Given the description of an element on the screen output the (x, y) to click on. 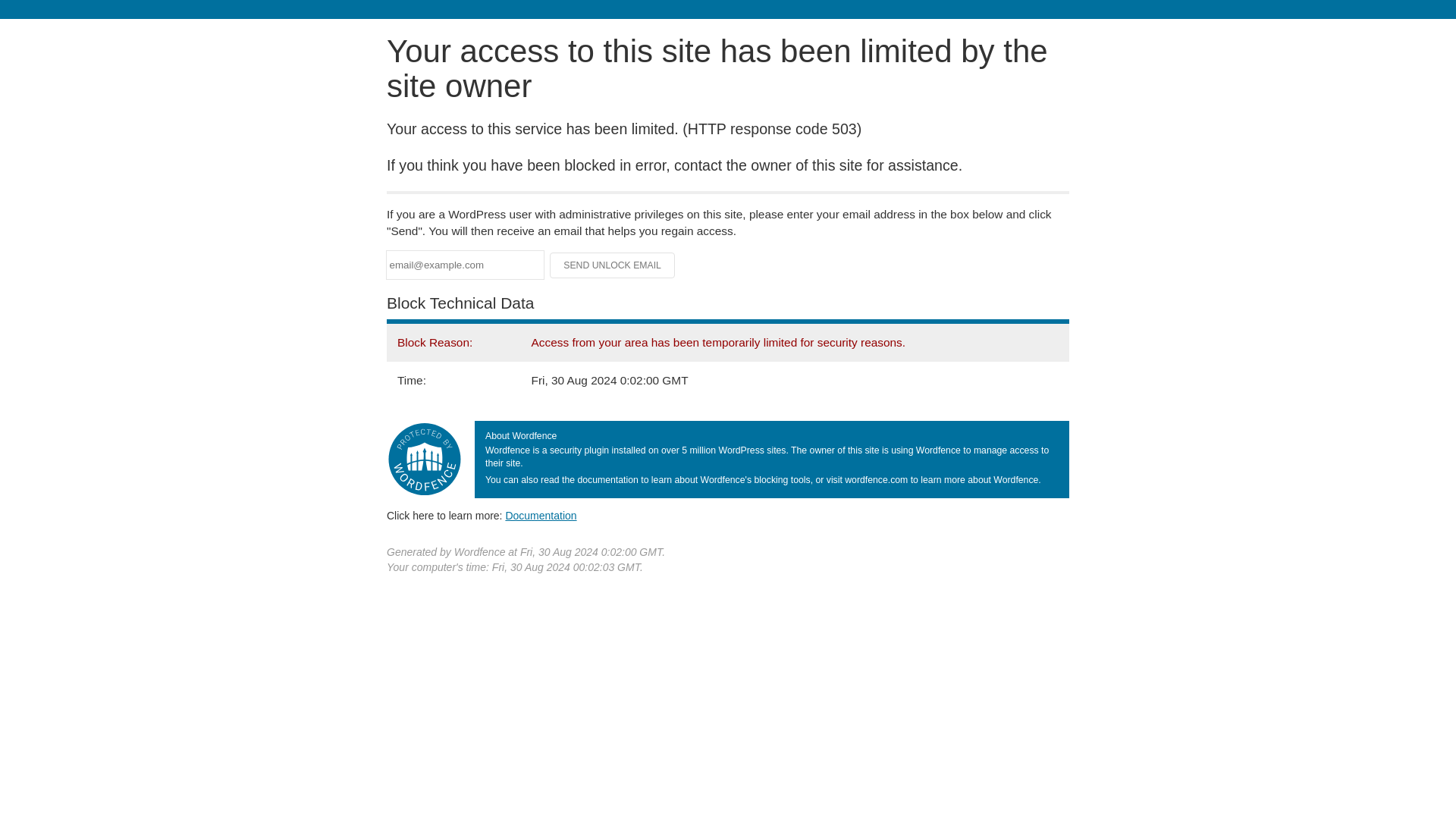
Documentation (540, 515)
Send Unlock Email (612, 265)
Send Unlock Email (612, 265)
